Given the description of an element on the screen output the (x, y) to click on. 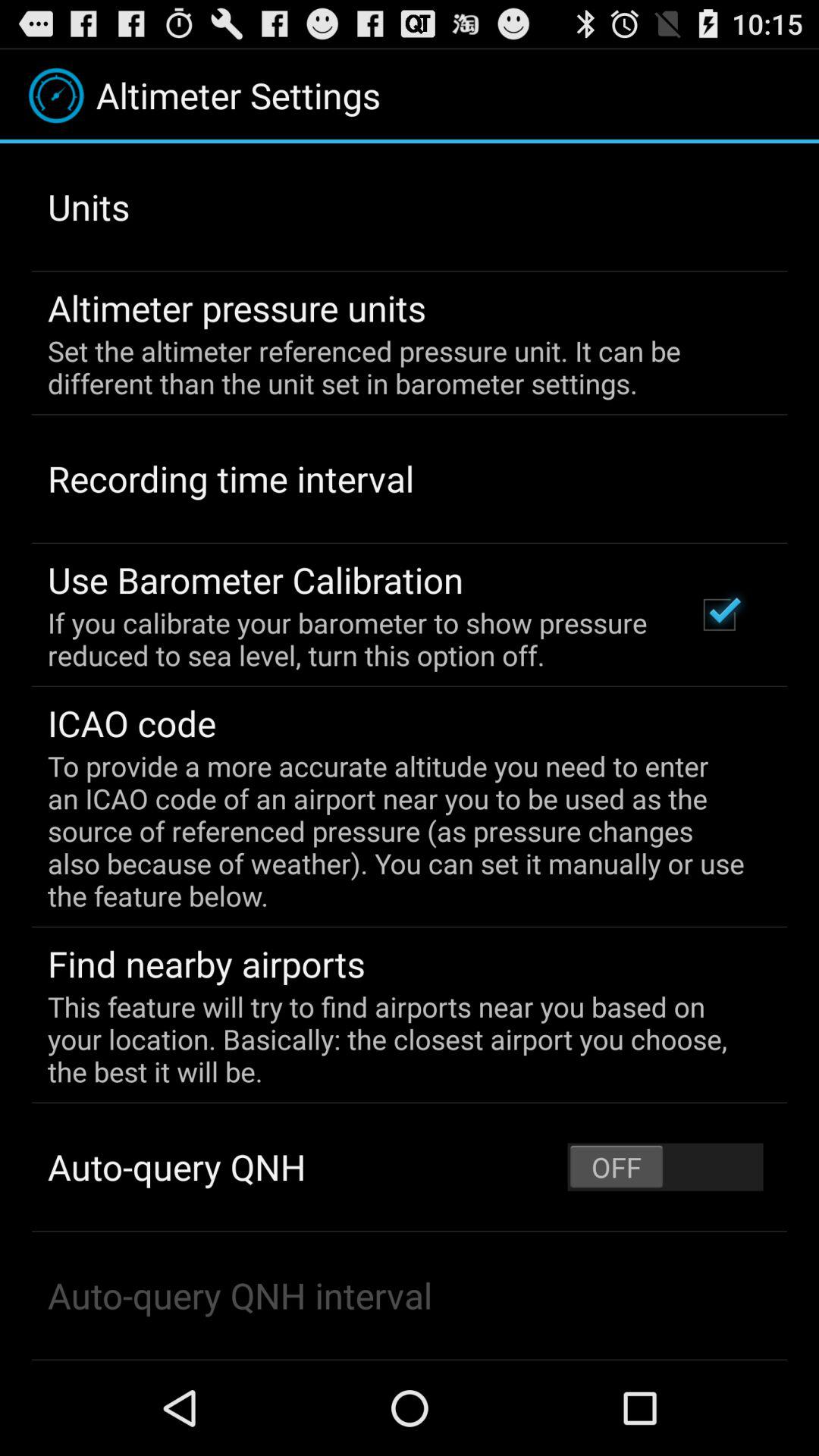
choose use barometer calibration app (255, 579)
